Given the description of an element on the screen output the (x, y) to click on. 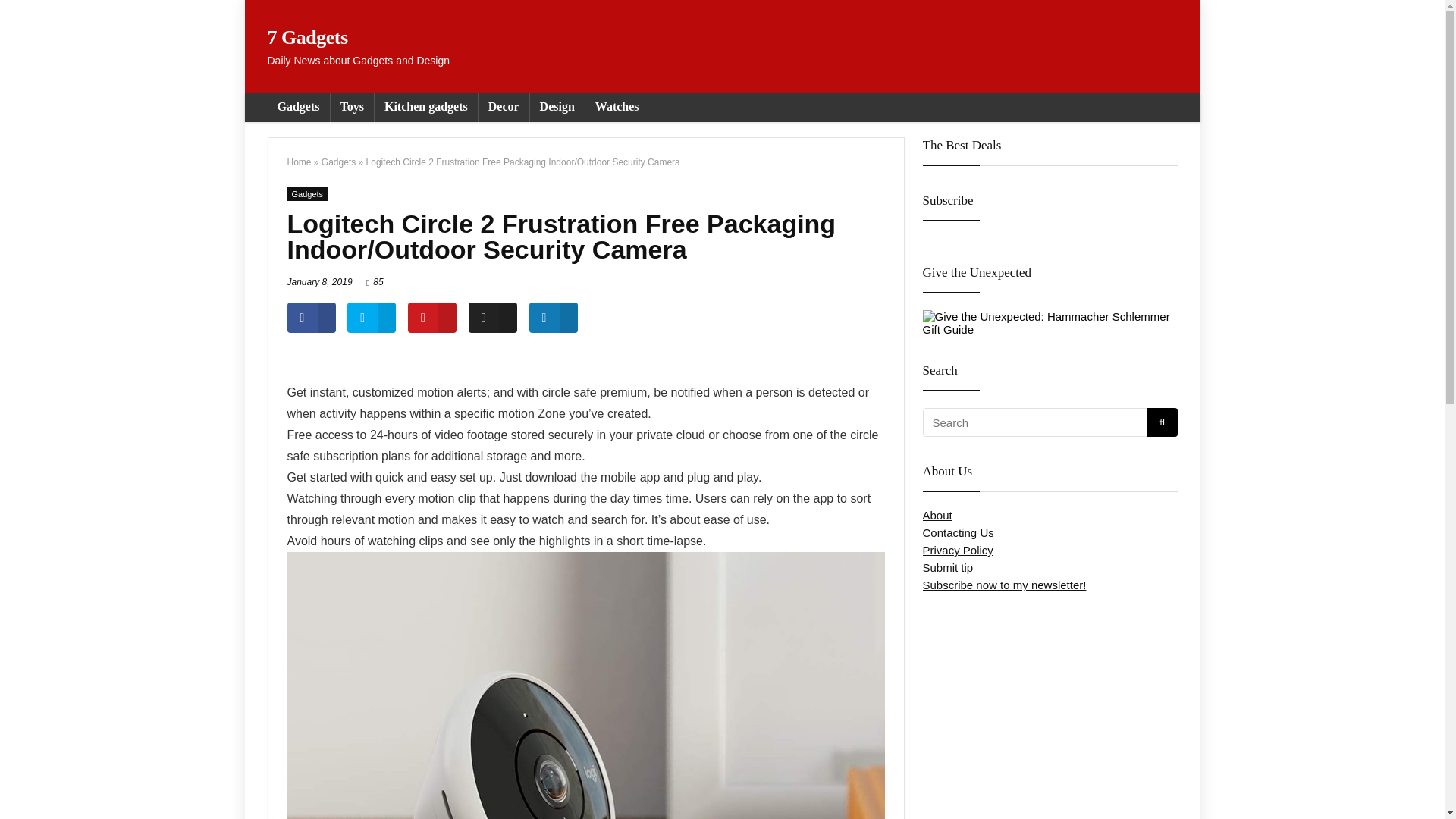
Watches (617, 107)
Kitchen gadgets (425, 107)
Privacy Policy (956, 549)
Toys (352, 107)
Contacting Us (956, 532)
Design (557, 107)
Gadgets (306, 193)
About (936, 514)
Gadgets (338, 162)
Gadgets (297, 107)
